Given the description of an element on the screen output the (x, y) to click on. 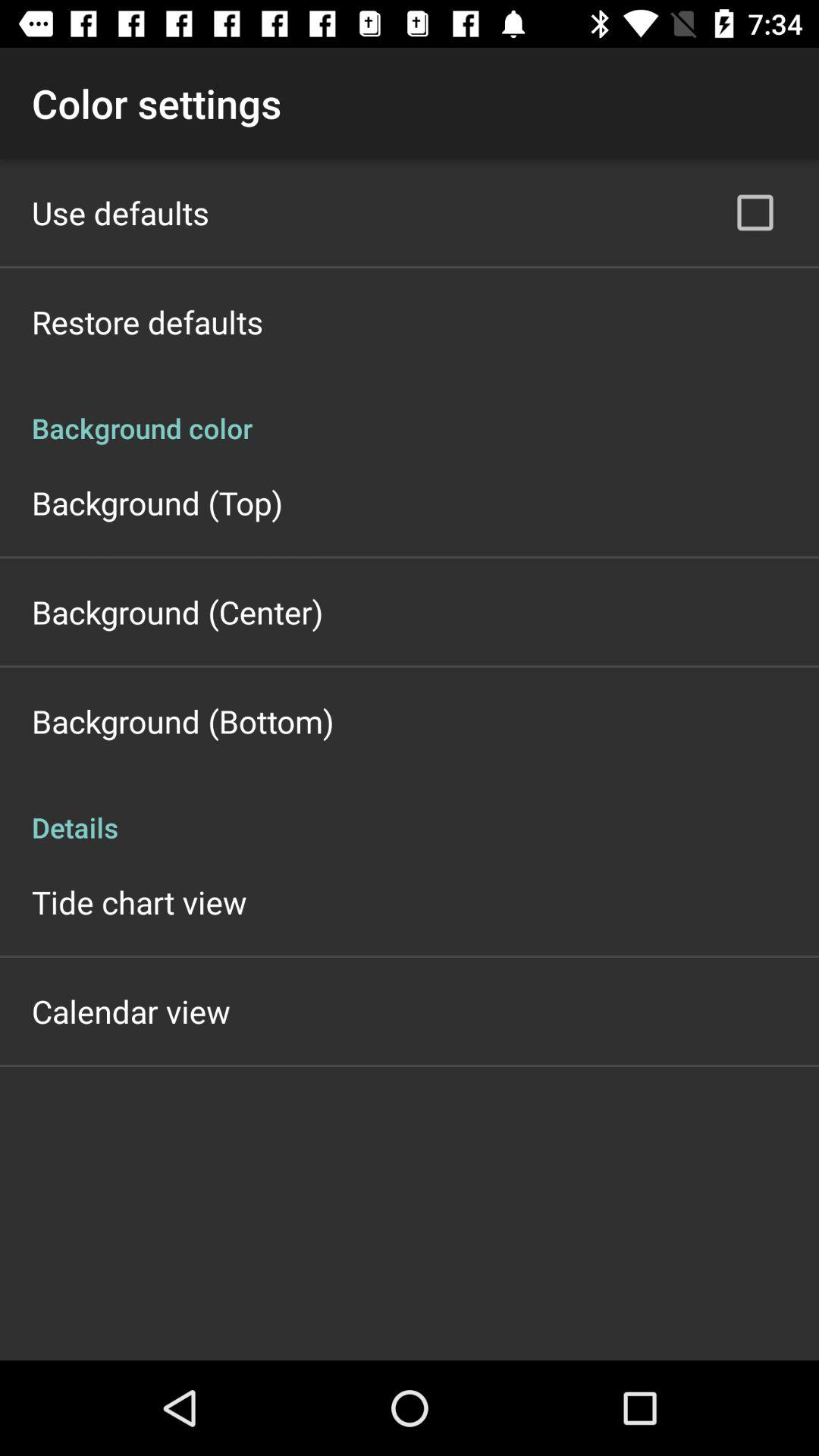
launch the icon to the right of use defaults (755, 212)
